Given the description of an element on the screen output the (x, y) to click on. 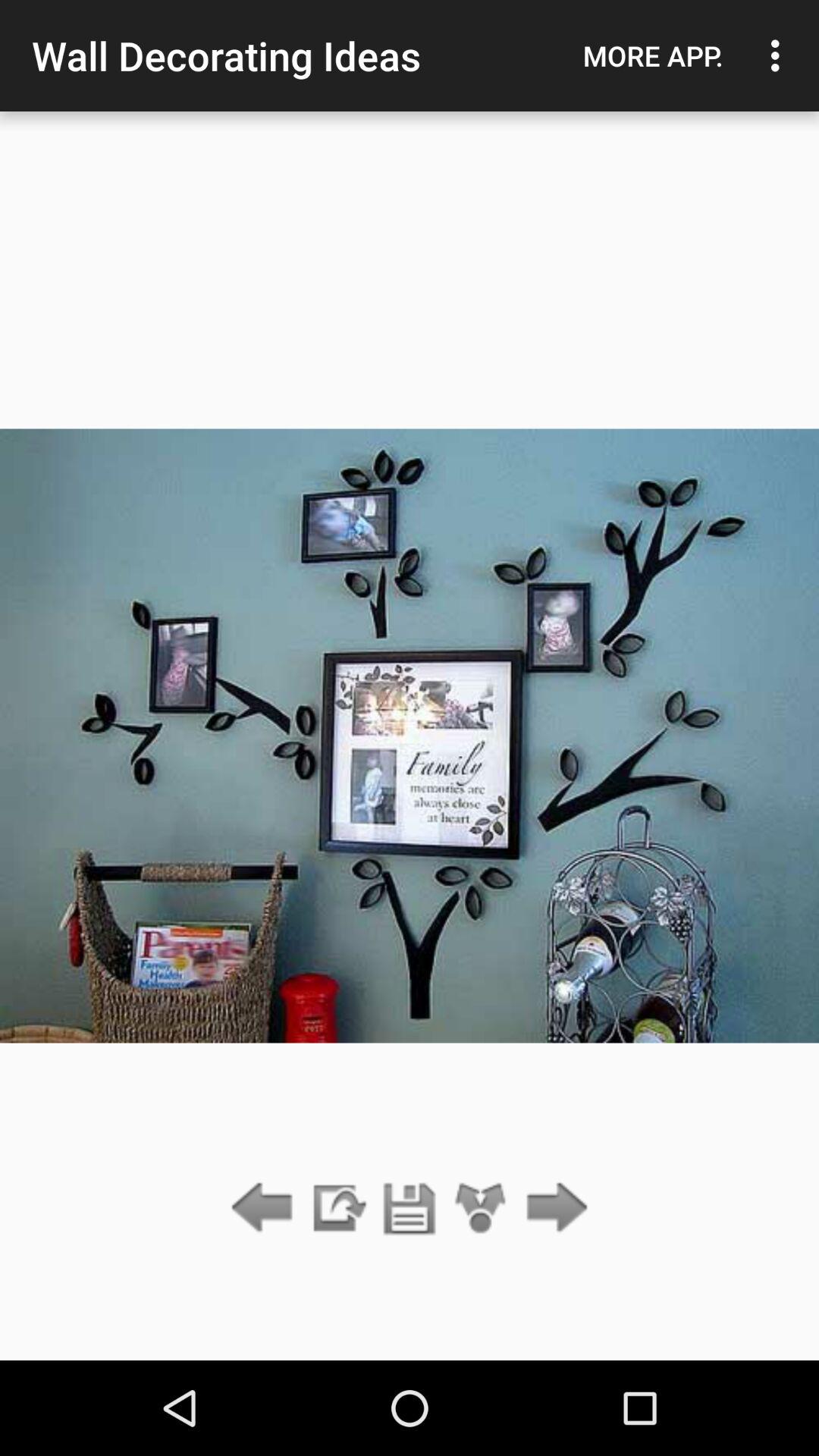
turn on icon below the wall decorating ideas (409, 1208)
